Given the description of an element on the screen output the (x, y) to click on. 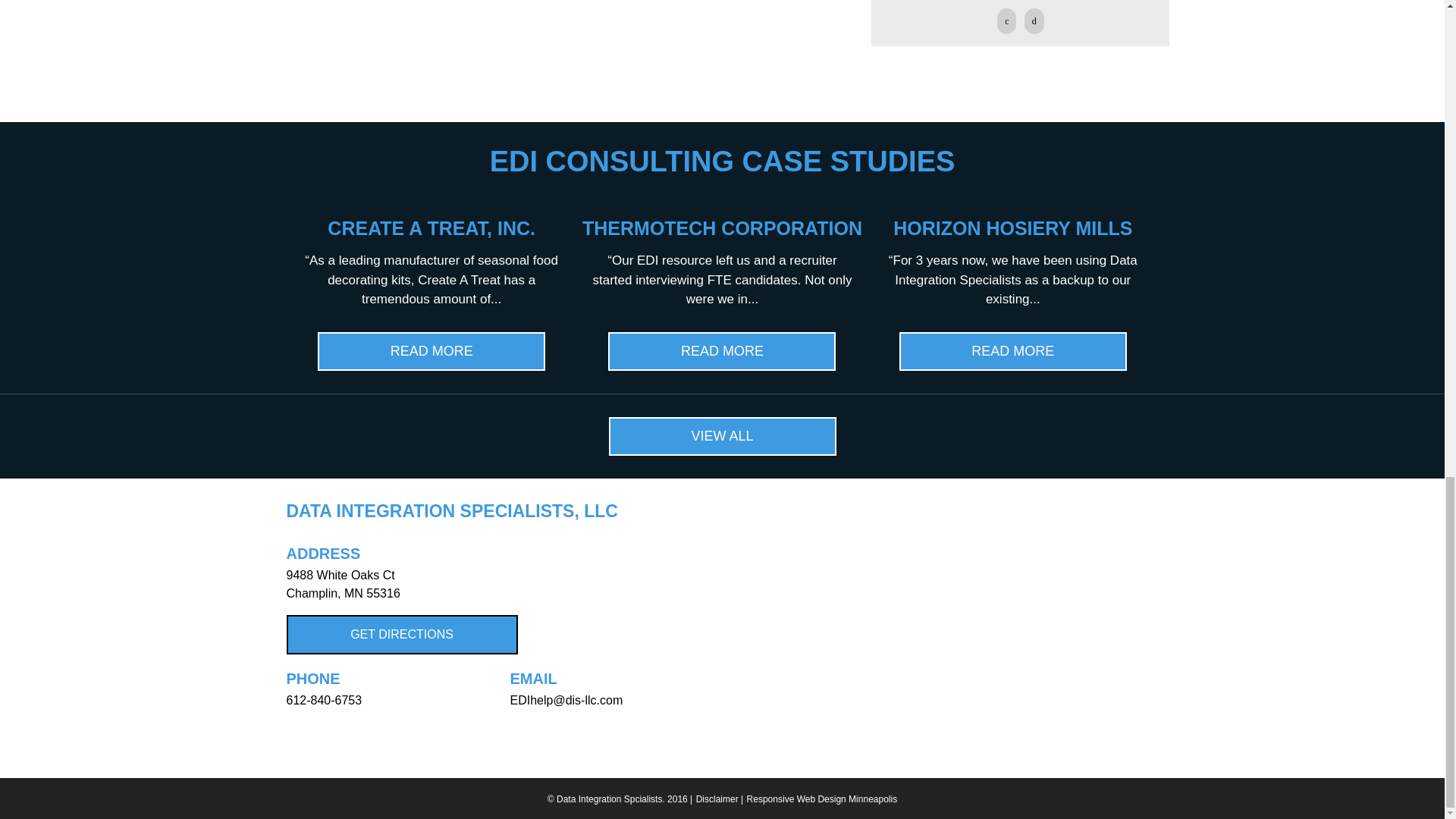
READ MORE (430, 351)
CREATE A TREAT, INC. (431, 228)
READ MORE (721, 351)
612-840-6753 (324, 699)
Responsive Web Design Minneapolis (822, 798)
THERMOTECH CORPORATION (721, 228)
HORIZON HOSIERY MILLS (1012, 228)
READ MORE (1012, 351)
Disclaimer (716, 798)
VIEW ALL (721, 435)
GET DIRECTIONS (402, 634)
